Given the description of an element on the screen output the (x, y) to click on. 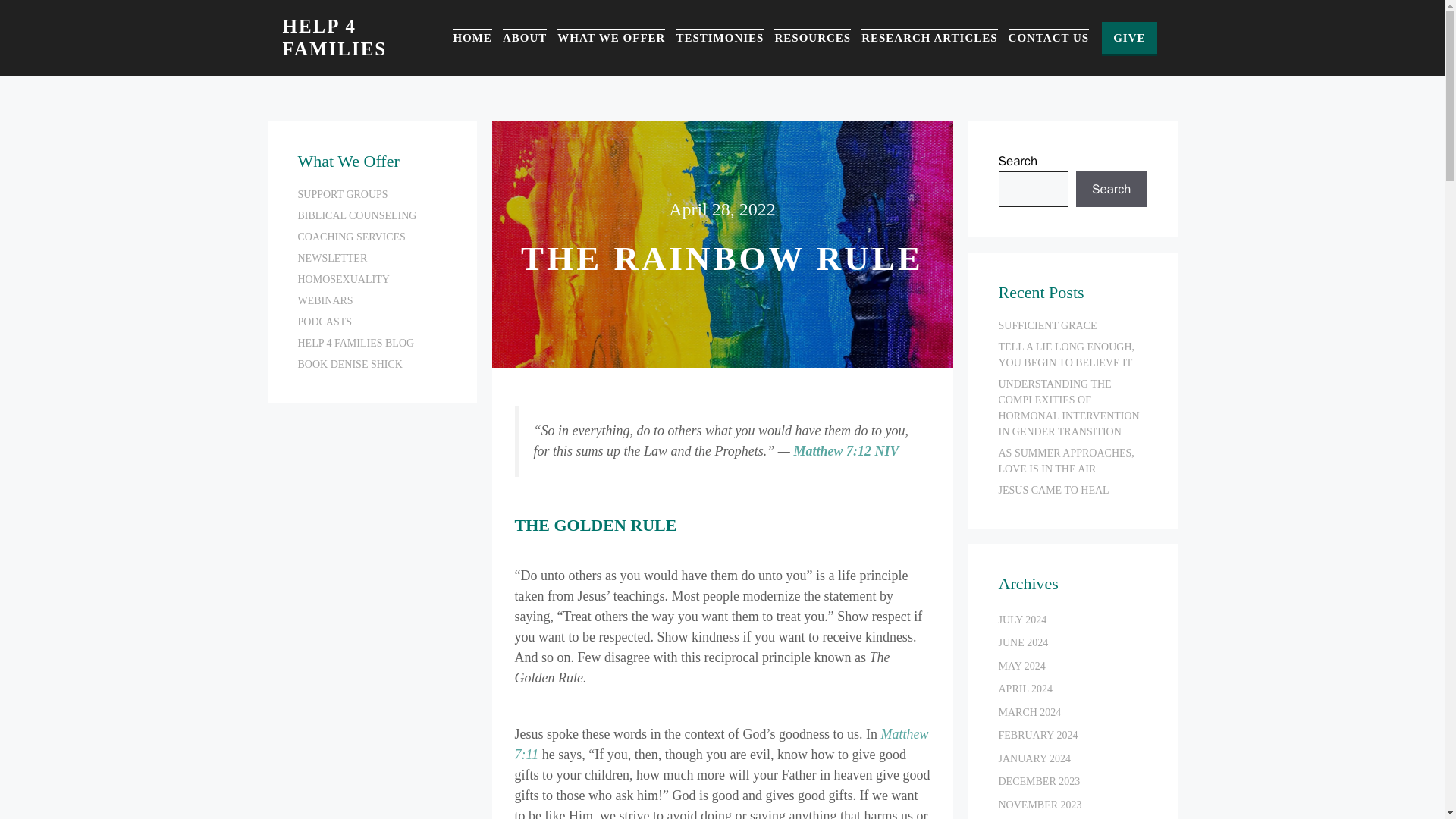
HOME (472, 37)
GIVE (1129, 38)
RESEARCH ARTICLES (929, 37)
HELP 4 FAMILIES (334, 36)
ABOUT (524, 37)
Matthew 7:12 NIV (845, 450)
CONTACT US (1049, 37)
RESOURCES (812, 37)
WHAT WE OFFER (611, 37)
Matthew 7:11 (720, 744)
TESTIMONIES (718, 37)
